Given the description of an element on the screen output the (x, y) to click on. 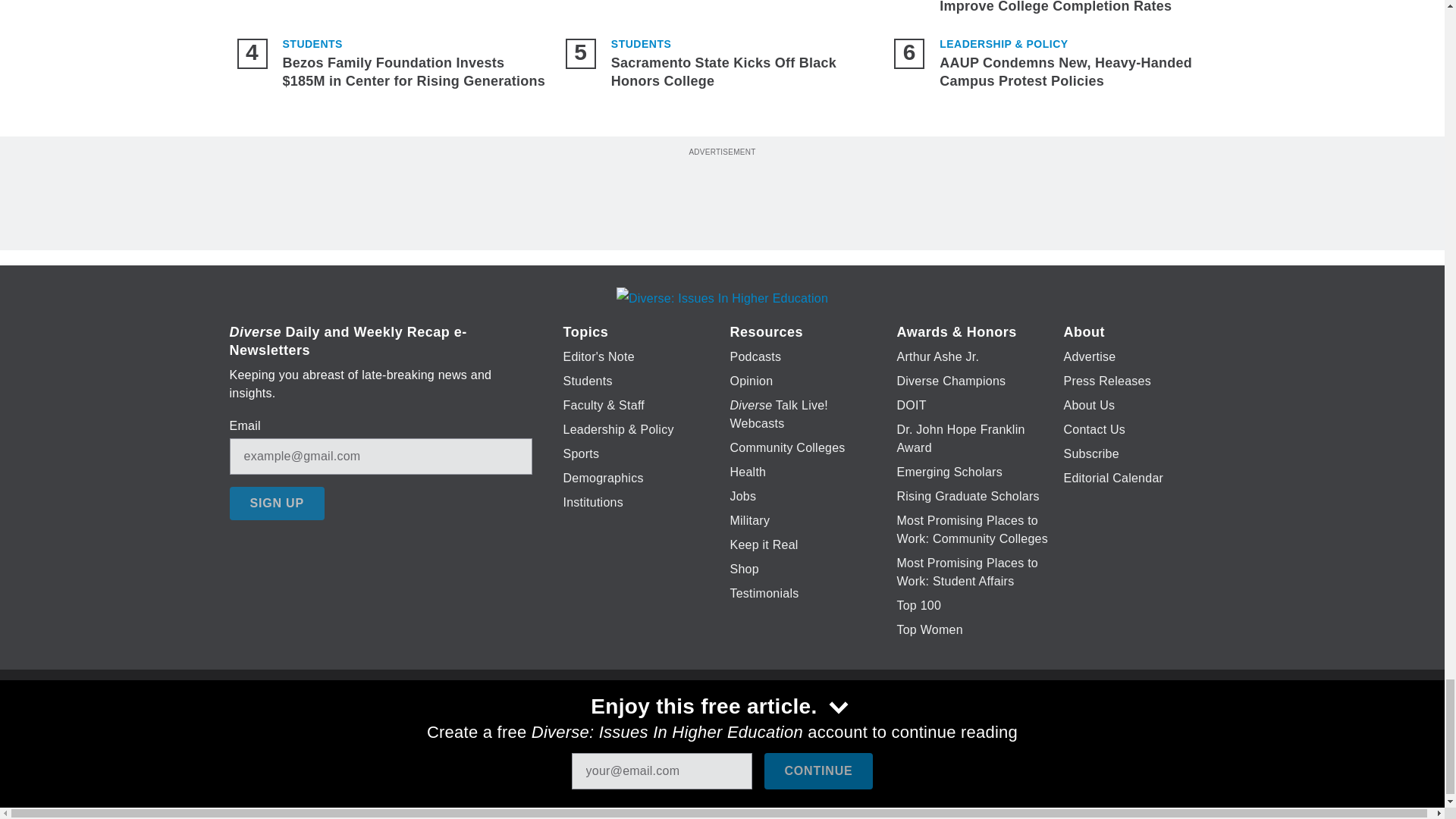
YouTube icon (757, 727)
Facebook icon (635, 727)
LinkedIn icon (718, 727)
Twitter X icon (674, 727)
Instagram icon (796, 727)
